Given the description of an element on the screen output the (x, y) to click on. 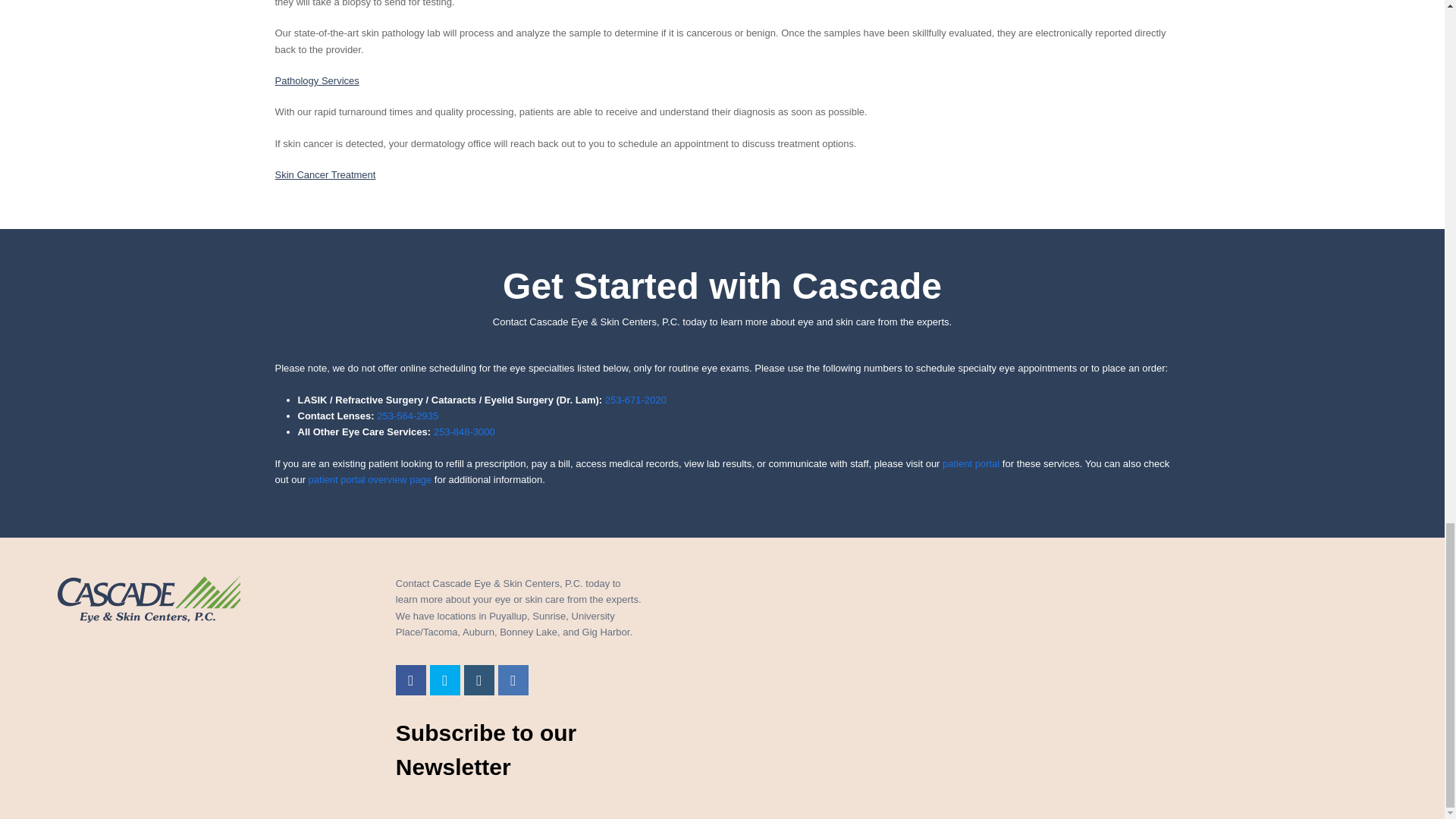
Facebook (411, 680)
Twitter (444, 680)
LinkedIn (512, 680)
Instagram (479, 680)
